Given the description of an element on the screen output the (x, y) to click on. 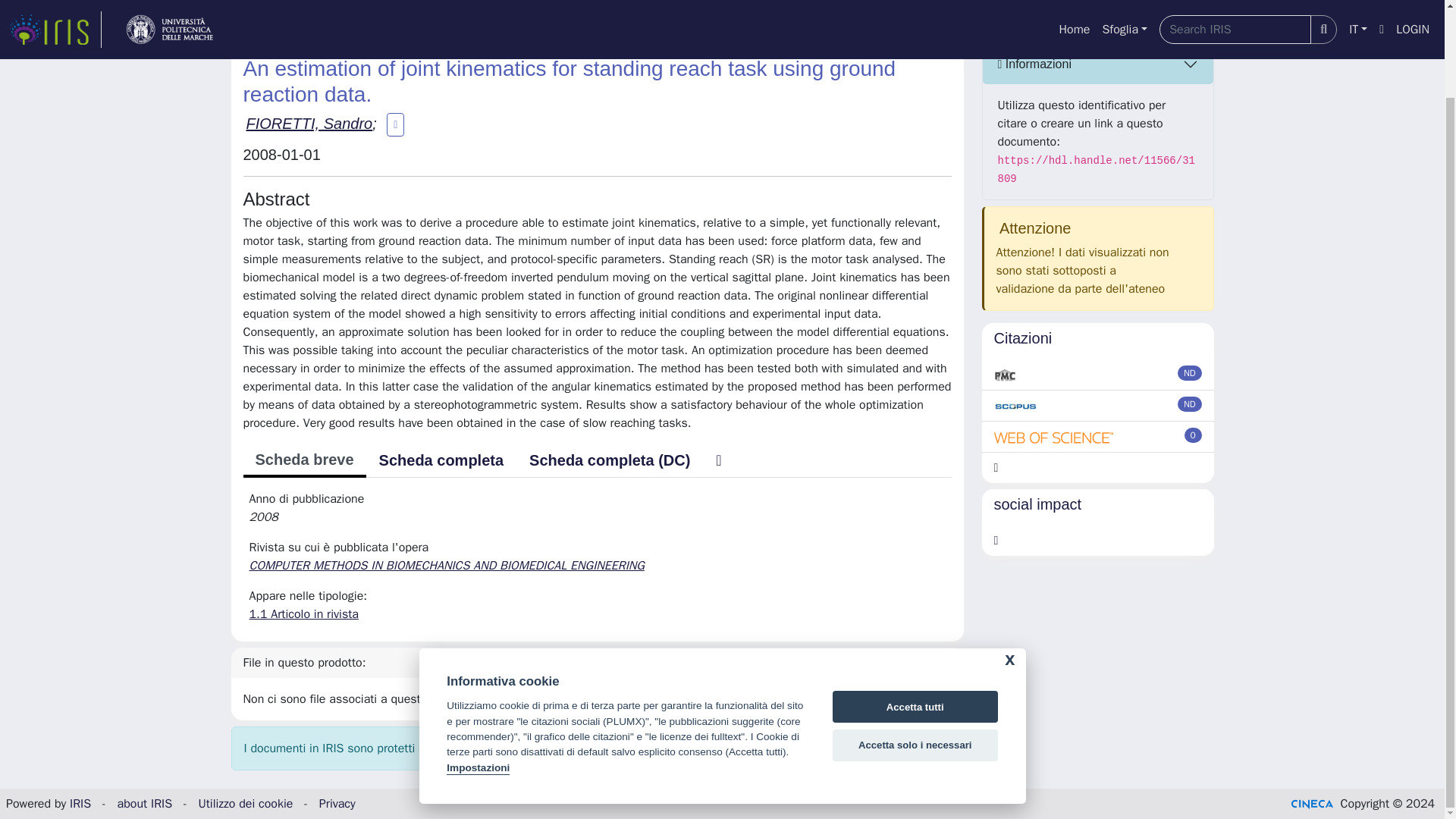
COMPUTER METHODS IN BIOMECHANICS AND BIOMEDICAL ENGINEERING (447, 565)
Catalogo Ricerca (314, 22)
FIORETTI, Sandro (309, 123)
Scheda breve (304, 460)
Scheda completa (441, 459)
IRIS (240, 22)
 Informazioni (1097, 64)
aggiornato in data 19-08-2024 18:51 (1193, 435)
IRIS (79, 803)
1 Contributo su Rivista (438, 22)
